Given the description of an element on the screen output the (x, y) to click on. 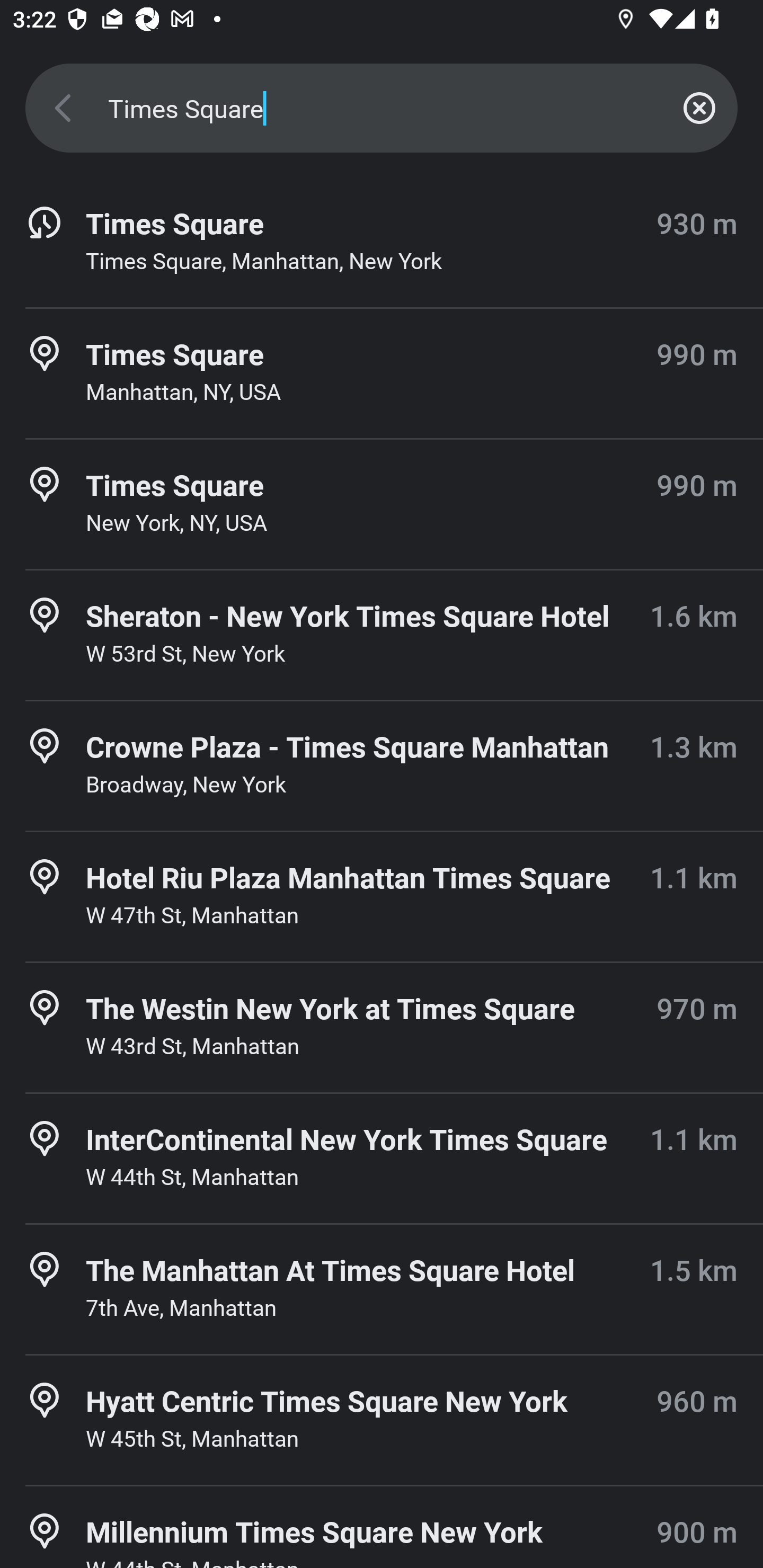
Times Square SEARCH_SCREEN_SEARCH_FIELD (381, 108)
Times Square 990 m Manhattan, NY, USA (381, 372)
Times Square 990 m New York, NY, USA (381, 504)
